Given the description of an element on the screen output the (x, y) to click on. 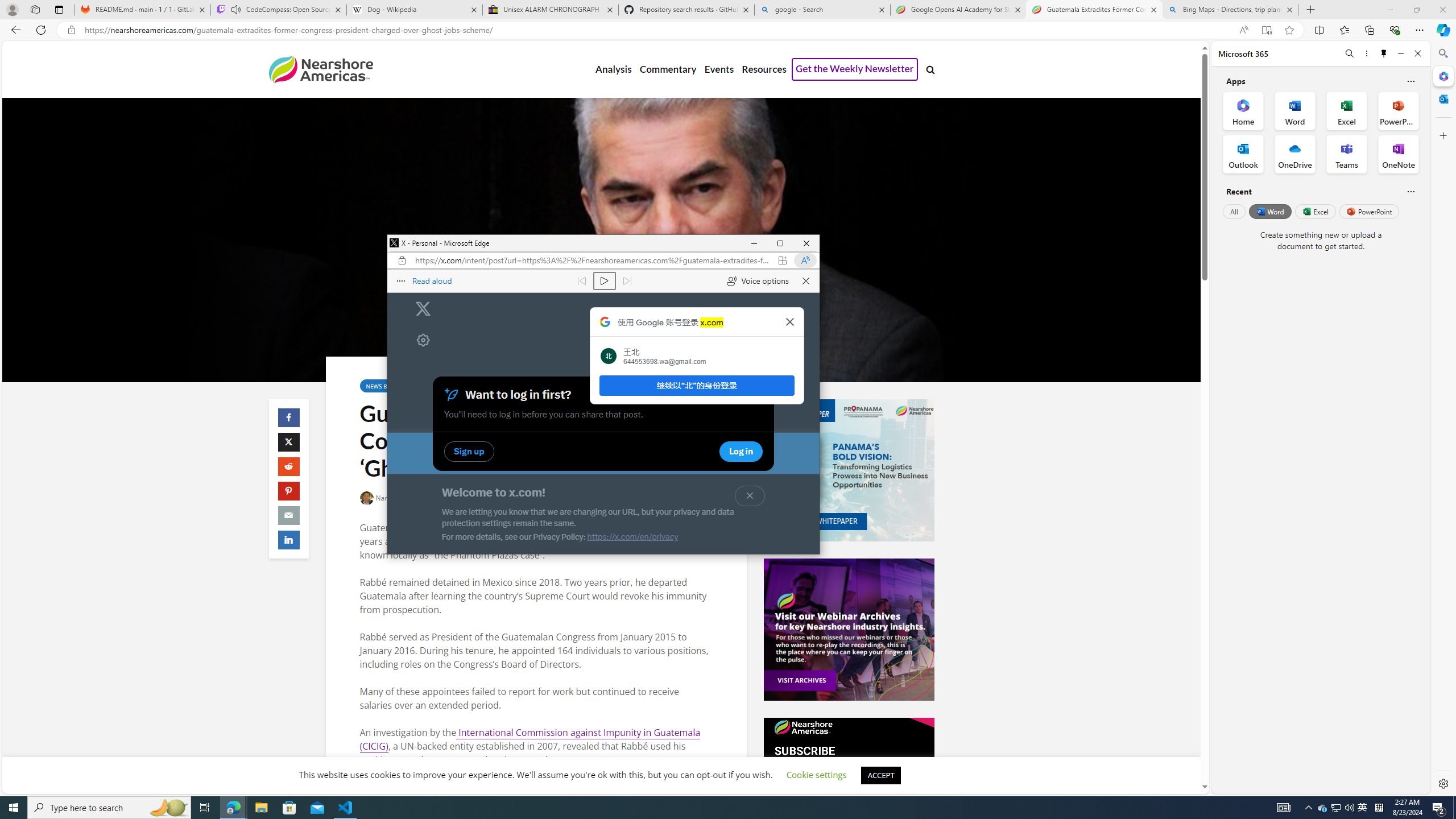
Excel (1315, 210)
OneDrive Office App (1295, 154)
Close read aloud (804, 280)
Events-Banner-Ad.jpg (848, 629)
Nearshore Americas (319, 68)
